Given the description of an element on the screen output the (x, y) to click on. 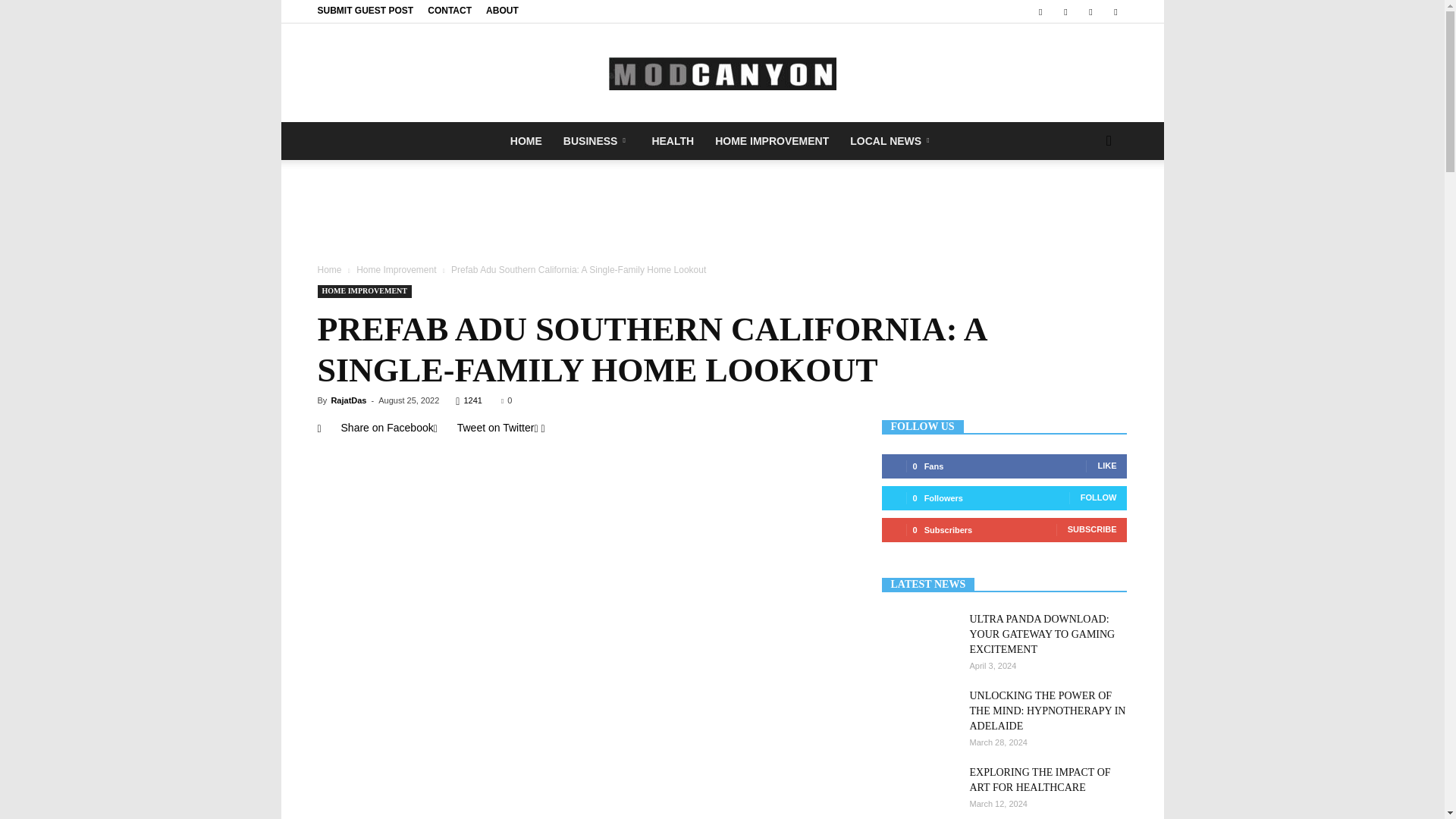
HOME (526, 140)
ModCanyon (722, 73)
ABOUT (502, 9)
VKontakte (1090, 11)
Youtube (1114, 11)
BUSINESS (597, 140)
SUBMIT GUEST POST (365, 9)
Twitter (1065, 11)
Facebook (1040, 11)
CONTACT (449, 9)
